Given the description of an element on the screen output the (x, y) to click on. 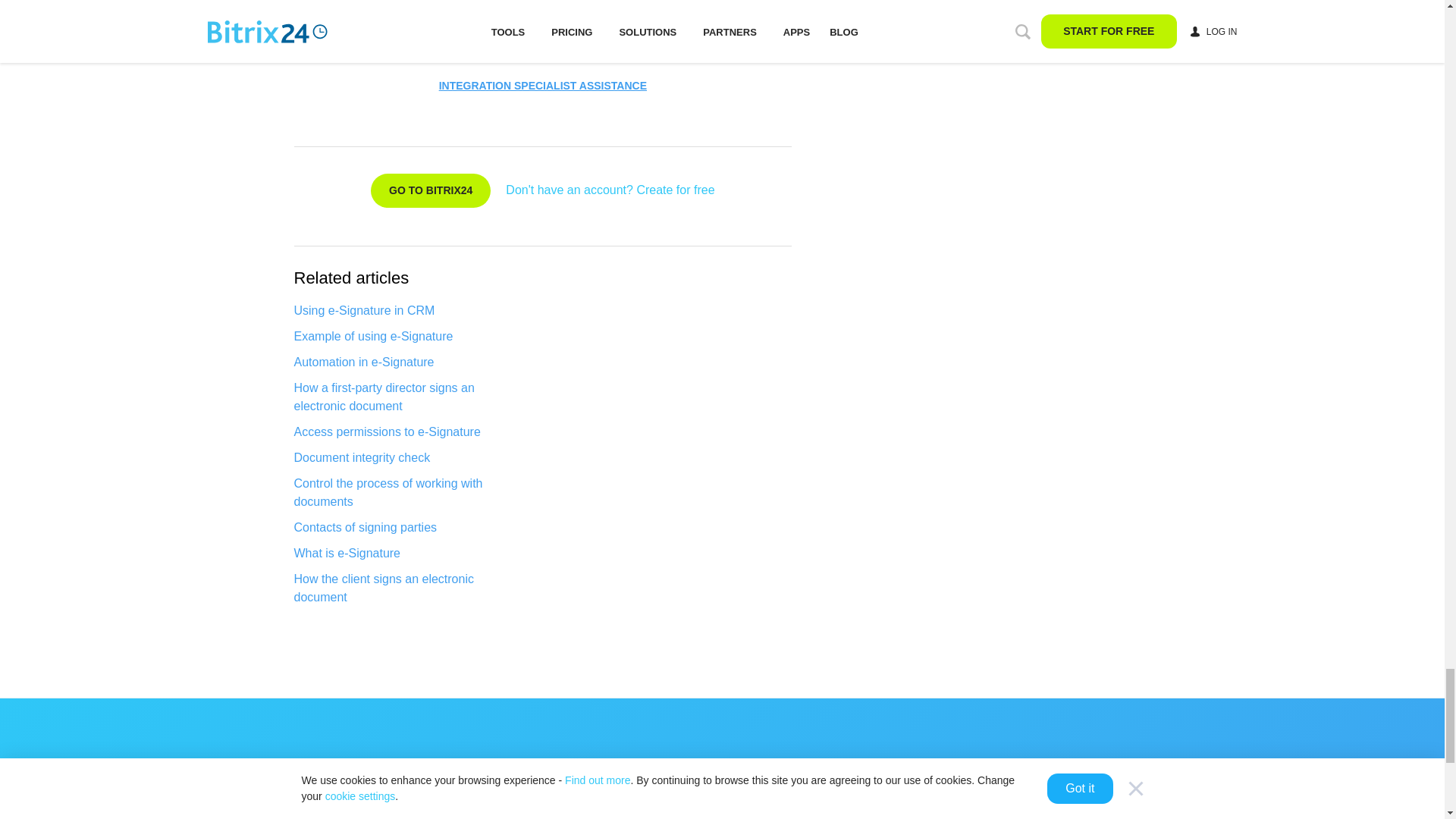
Document integrity check (406, 457)
Access permissions to e-Signature (406, 432)
GO TO BITRIX24 (430, 190)
Control the process of working with documents (406, 493)
Don't have an account? Create for free (609, 189)
Using e-Signature in CRM (406, 311)
How a first-party director signs an electronic document (406, 397)
Example of using e-Signature (406, 336)
Contacts of signing parties (406, 527)
Automation in e-Signature (406, 361)
